Given the description of an element on the screen output the (x, y) to click on. 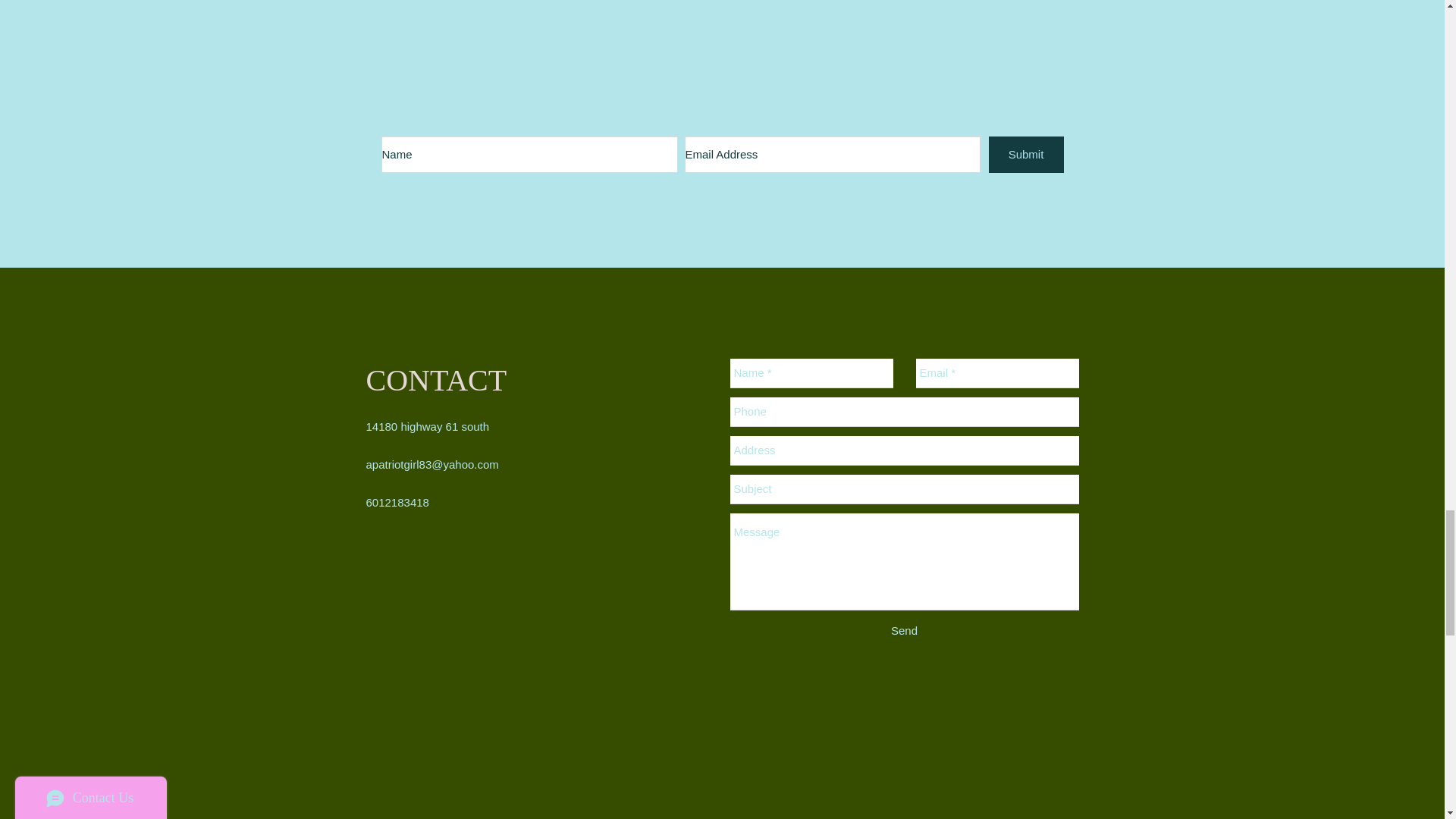
Google Maps (721, 751)
Send (903, 630)
Submit (1026, 154)
